Given the description of an element on the screen output the (x, y) to click on. 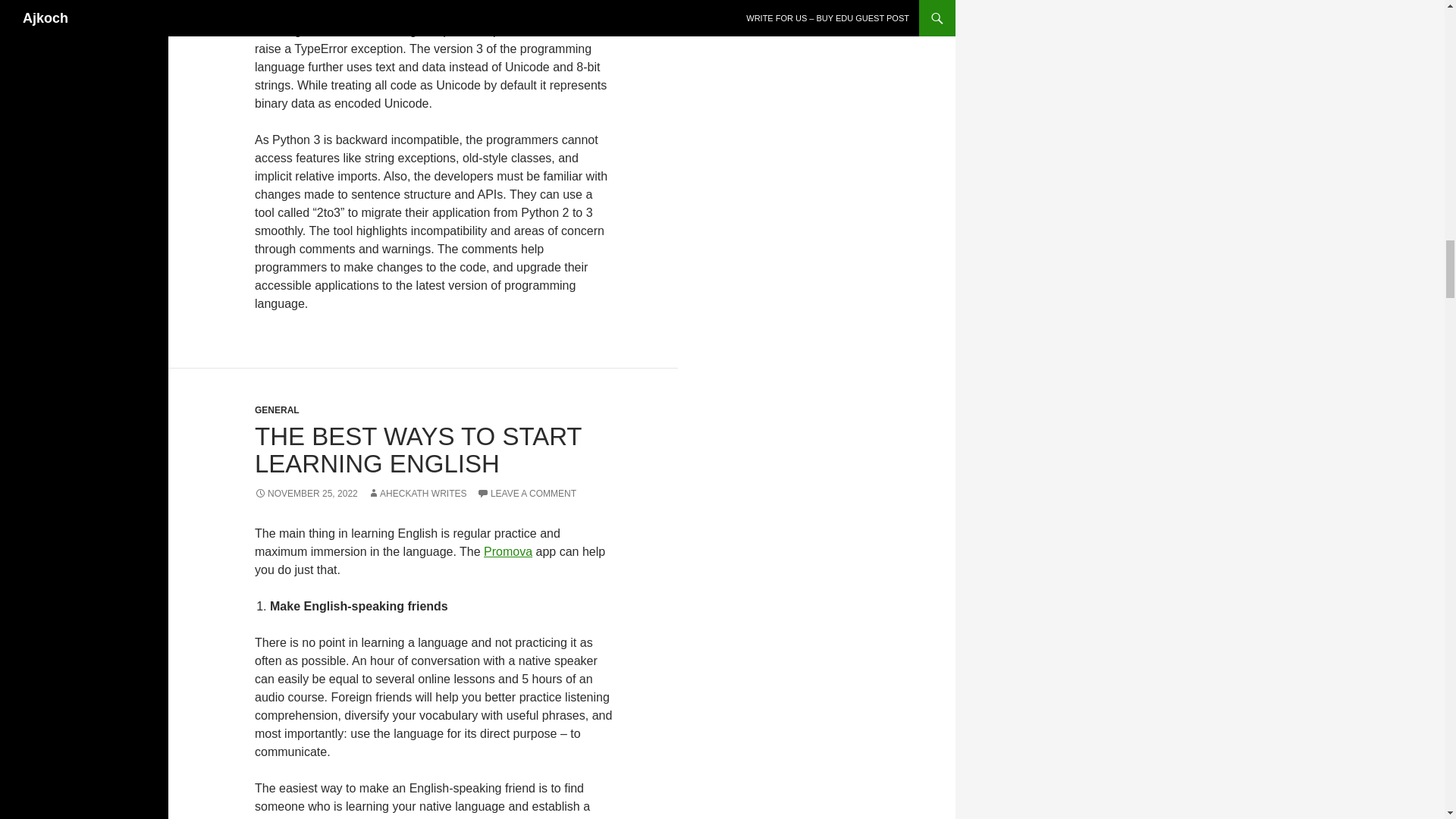
THE BEST WAYS TO START LEARNING ENGLISH (417, 449)
Promova (507, 551)
GENERAL (276, 409)
NOVEMBER 25, 2022 (306, 493)
LEAVE A COMMENT (526, 493)
AHECKATH WRITES (416, 493)
